Given the description of an element on the screen output the (x, y) to click on. 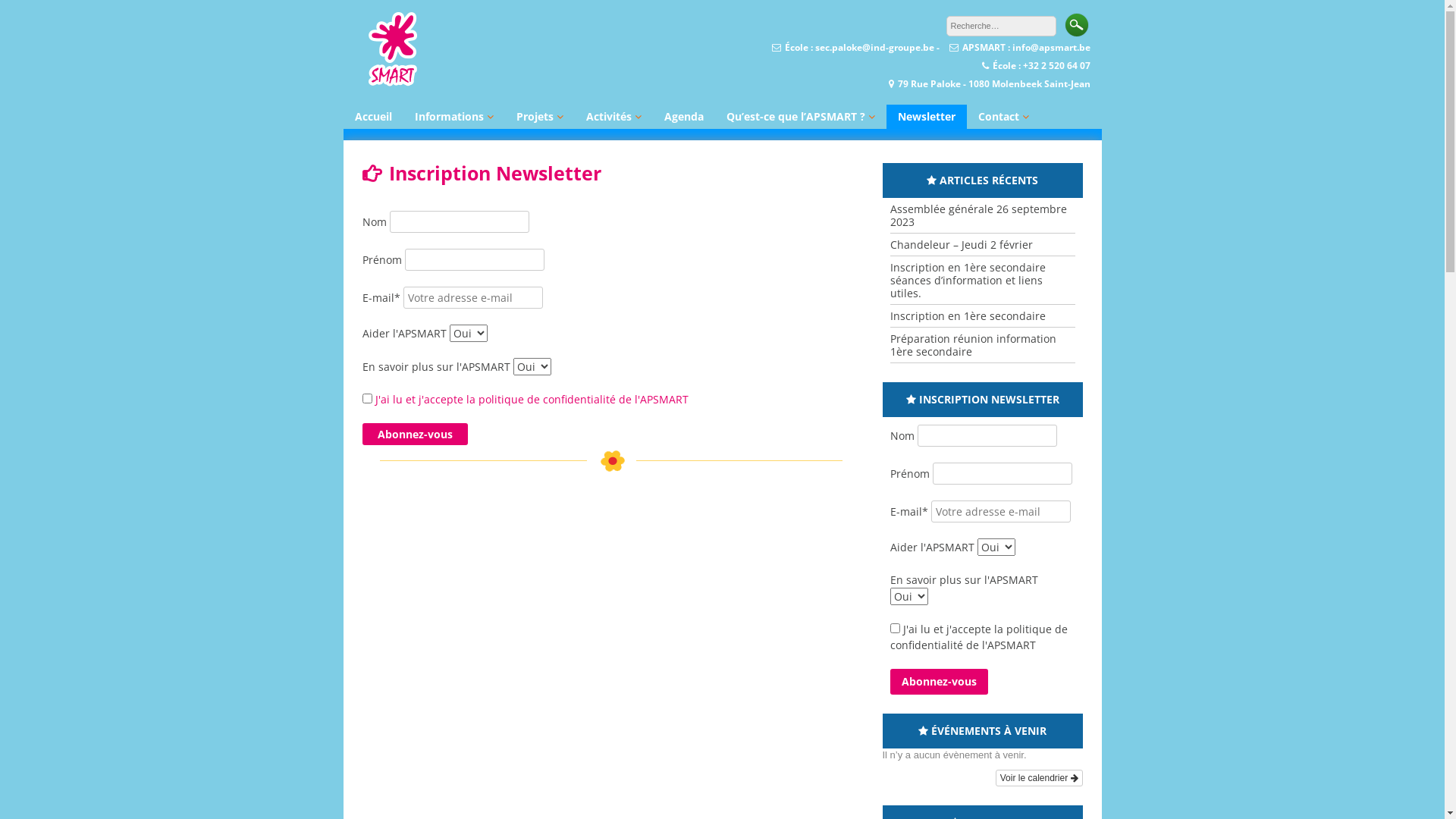
Abonnez-vous Element type: text (414, 434)
Newsletter Element type: text (925, 116)
Voir le calendrier Element type: text (1038, 777)
Projets Element type: text (539, 116)
Agenda Element type: text (683, 116)
Search Element type: hover (1076, 24)
Search Element type: text (1076, 24)
APSMART Element type: hover (392, 82)
Accueil Element type: text (372, 116)
Abonnez-vous Element type: text (939, 681)
Informations Element type: text (454, 116)
Contact Element type: text (1002, 116)
